Given the description of an element on the screen output the (x, y) to click on. 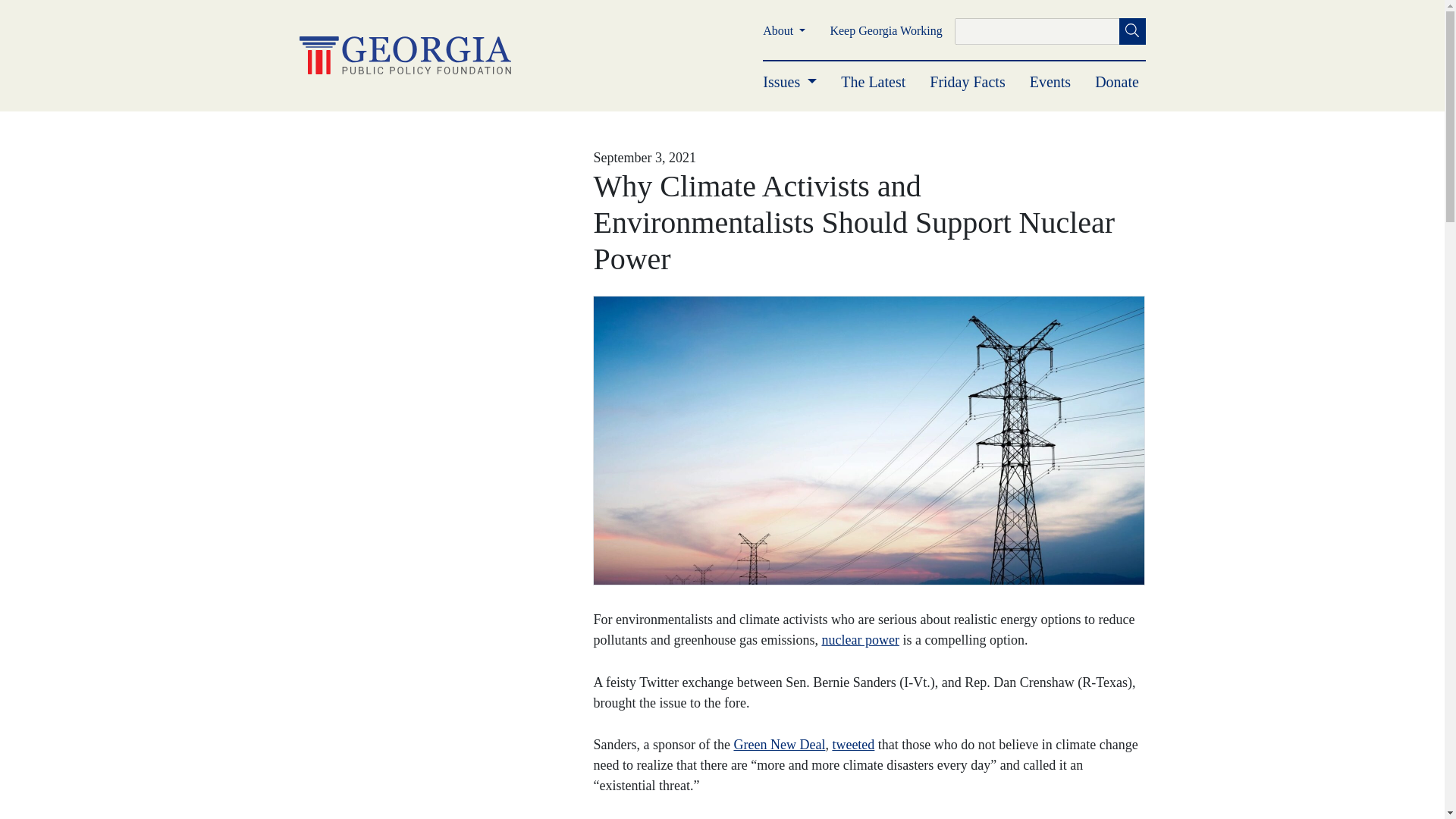
Issues (789, 81)
tweeted (853, 744)
Green New Deal (779, 744)
Events (1049, 81)
About (783, 30)
nuclear power (859, 639)
Donate (1116, 81)
Friday Facts (967, 81)
Keep Georgia Working (885, 30)
The Latest (873, 81)
